Given the description of an element on the screen output the (x, y) to click on. 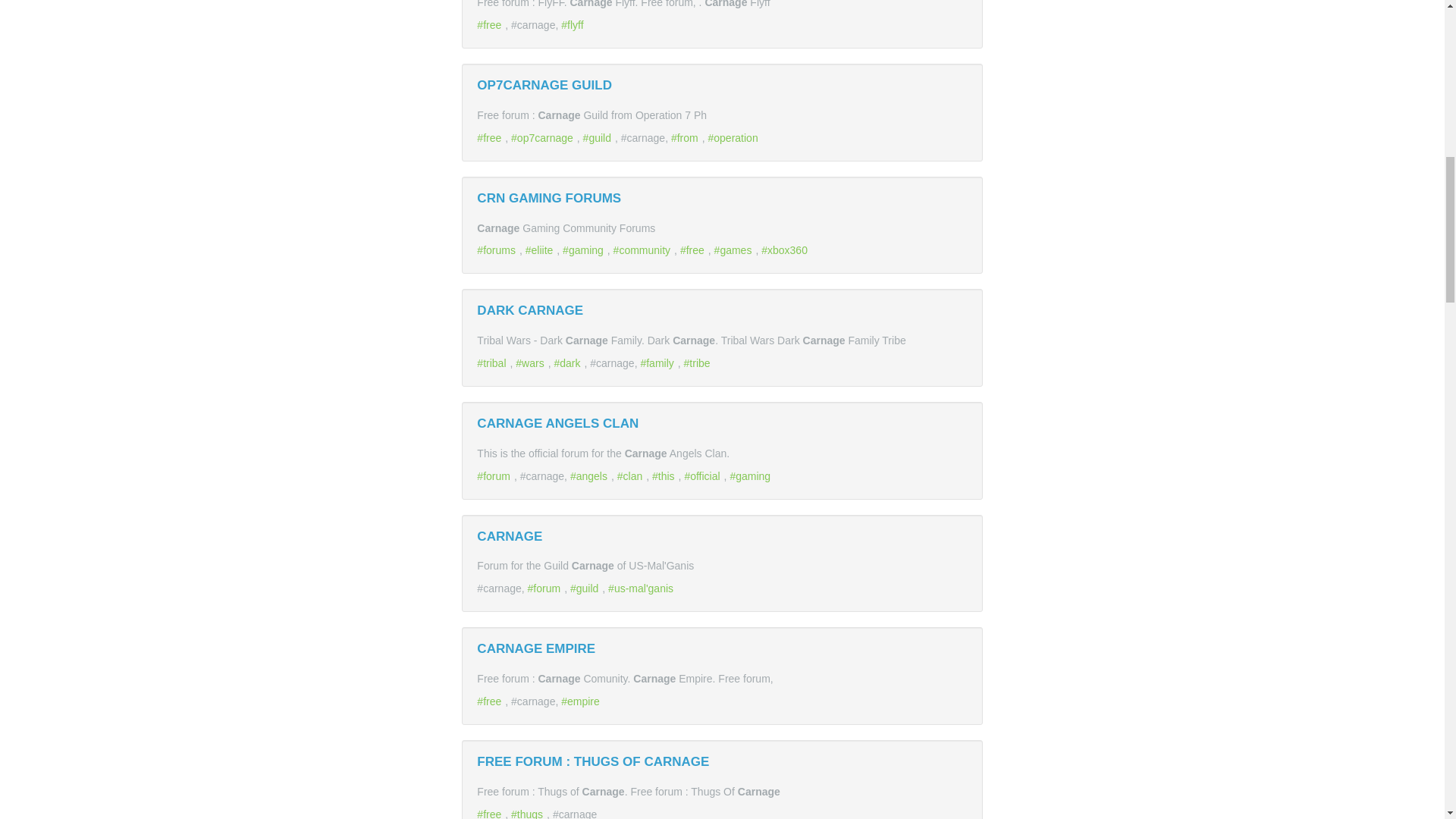
eliite (541, 250)
flyff (573, 24)
guild (586, 588)
gaming (584, 250)
gaming (584, 250)
op7carnage (543, 137)
free (491, 137)
flyff (573, 24)
forum (495, 476)
xbox360 (785, 250)
forums (498, 250)
free (491, 24)
community (643, 250)
OP7CARNAGE GUILD (544, 84)
CRN GAMING FORUMS (549, 197)
